Given the description of an element on the screen output the (x, y) to click on. 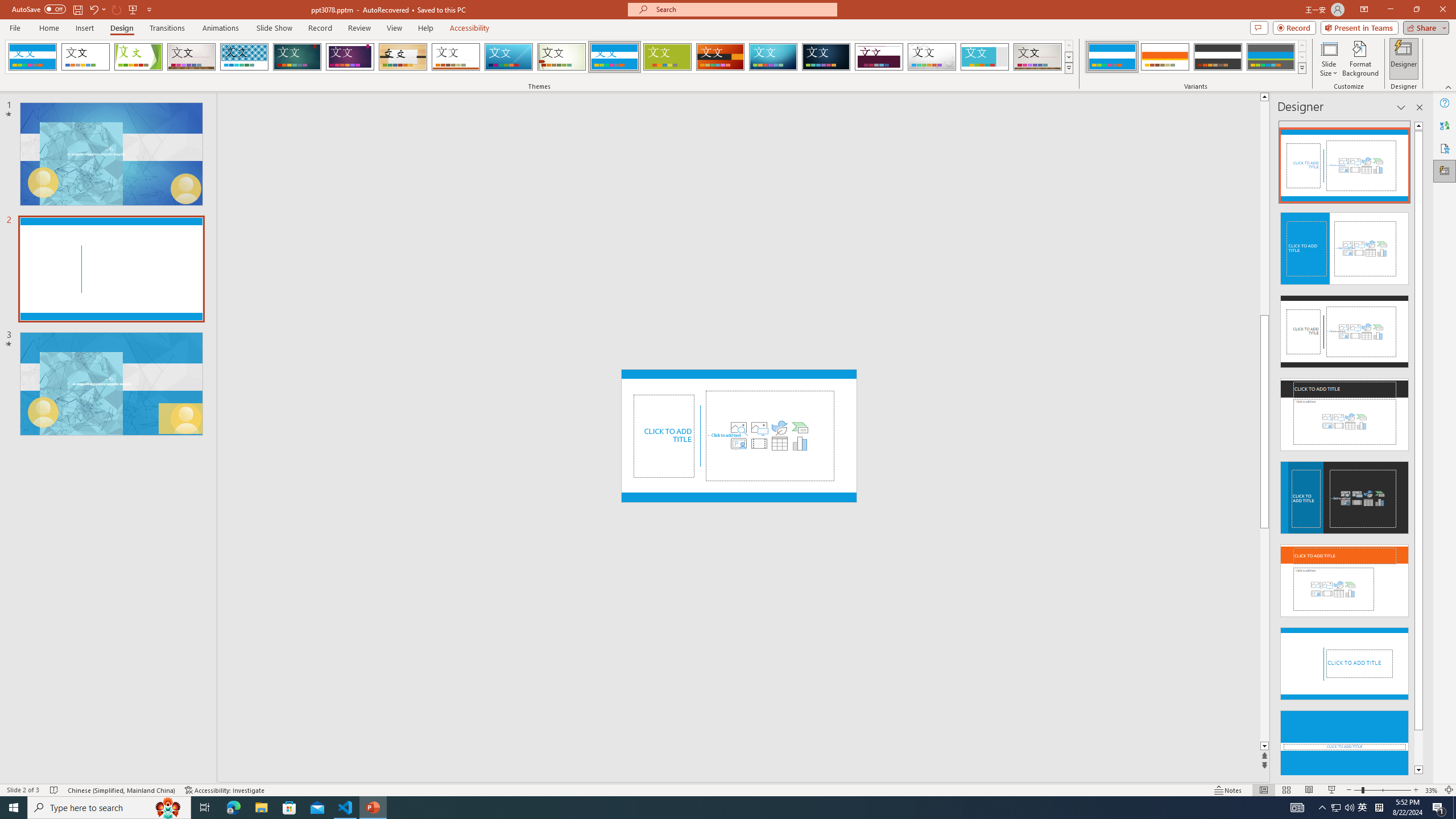
Wisp (561, 56)
Insert an Icon (779, 427)
AutomationID: SlideThemesGallery (539, 56)
Damask (826, 56)
Basis (667, 56)
Design Idea (1344, 742)
Decorative Locked (738, 497)
Insert Table (779, 443)
